Given the description of an element on the screen output the (x, y) to click on. 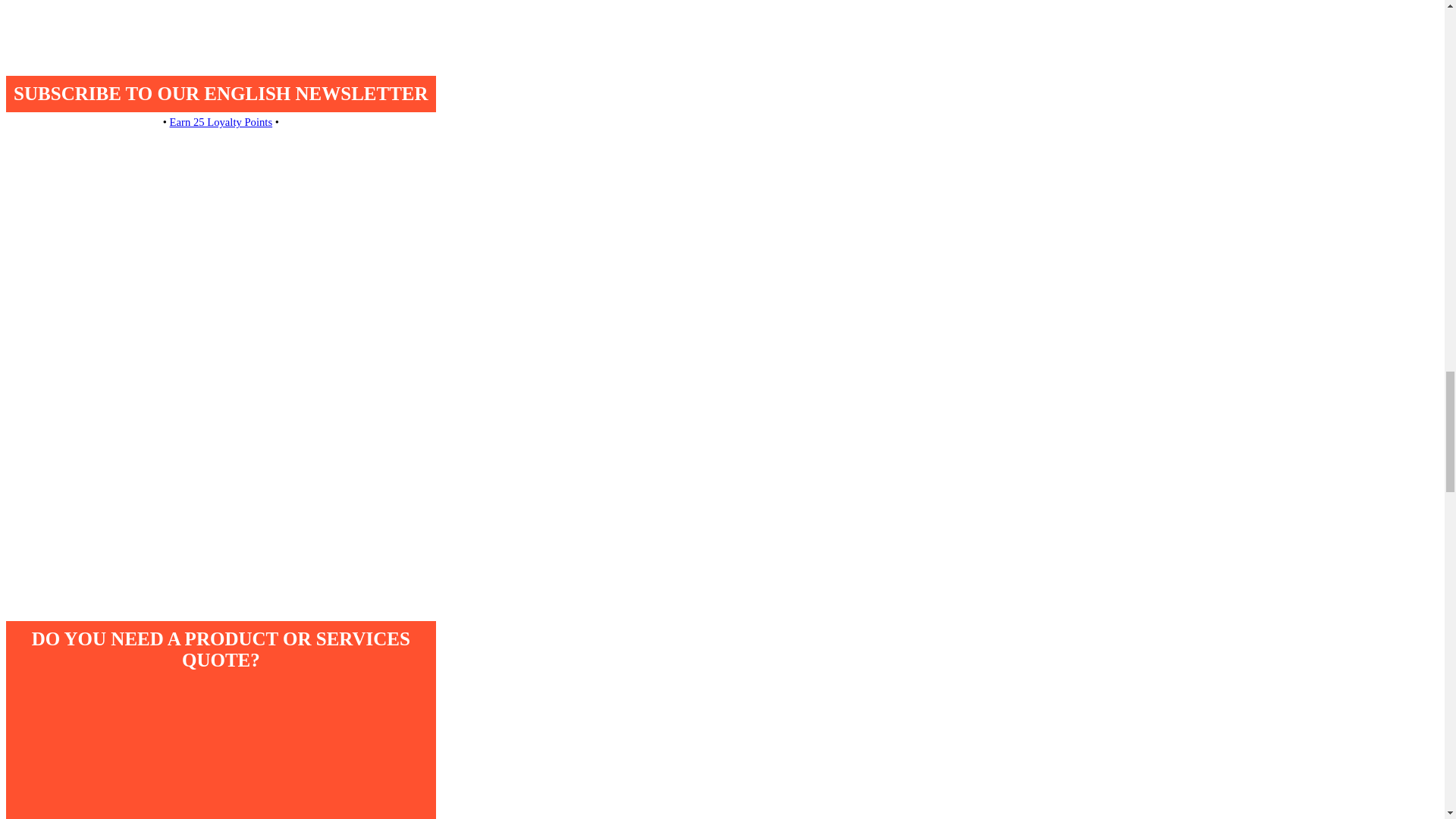
Newsletter (220, 270)
Cotizar (220, 744)
